Given the description of an element on the screen output the (x, y) to click on. 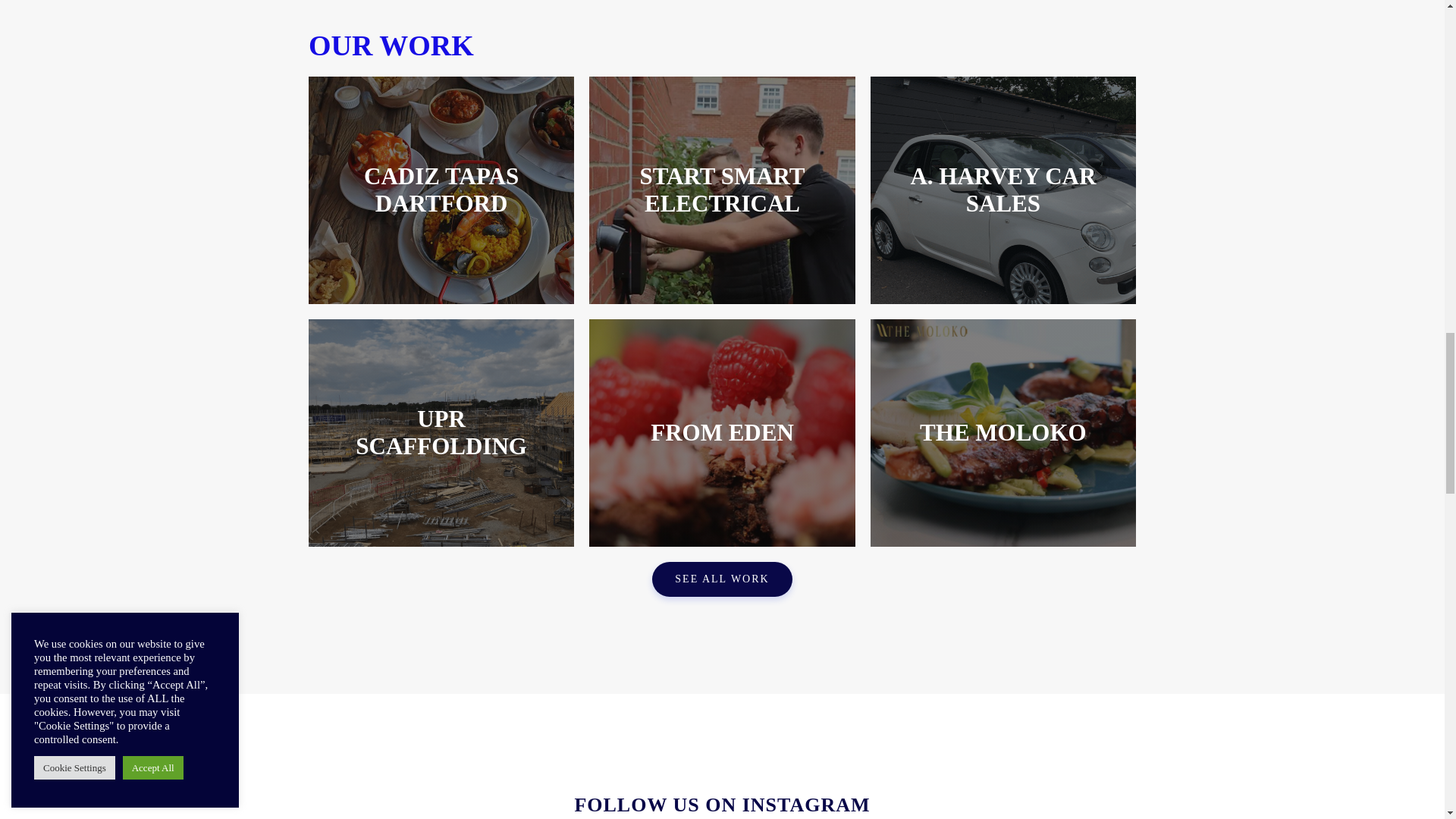
CADIZ TAPAS DARTFORD (440, 189)
START SMART ELECTRICAL (721, 189)
SEE ALL WORK (722, 579)
UPR SCAFFOLDING (440, 433)
FROM EDEN (721, 433)
THE MOLOKO (1002, 433)
A. HARVEY CAR SALES (1002, 189)
